Given the description of an element on the screen output the (x, y) to click on. 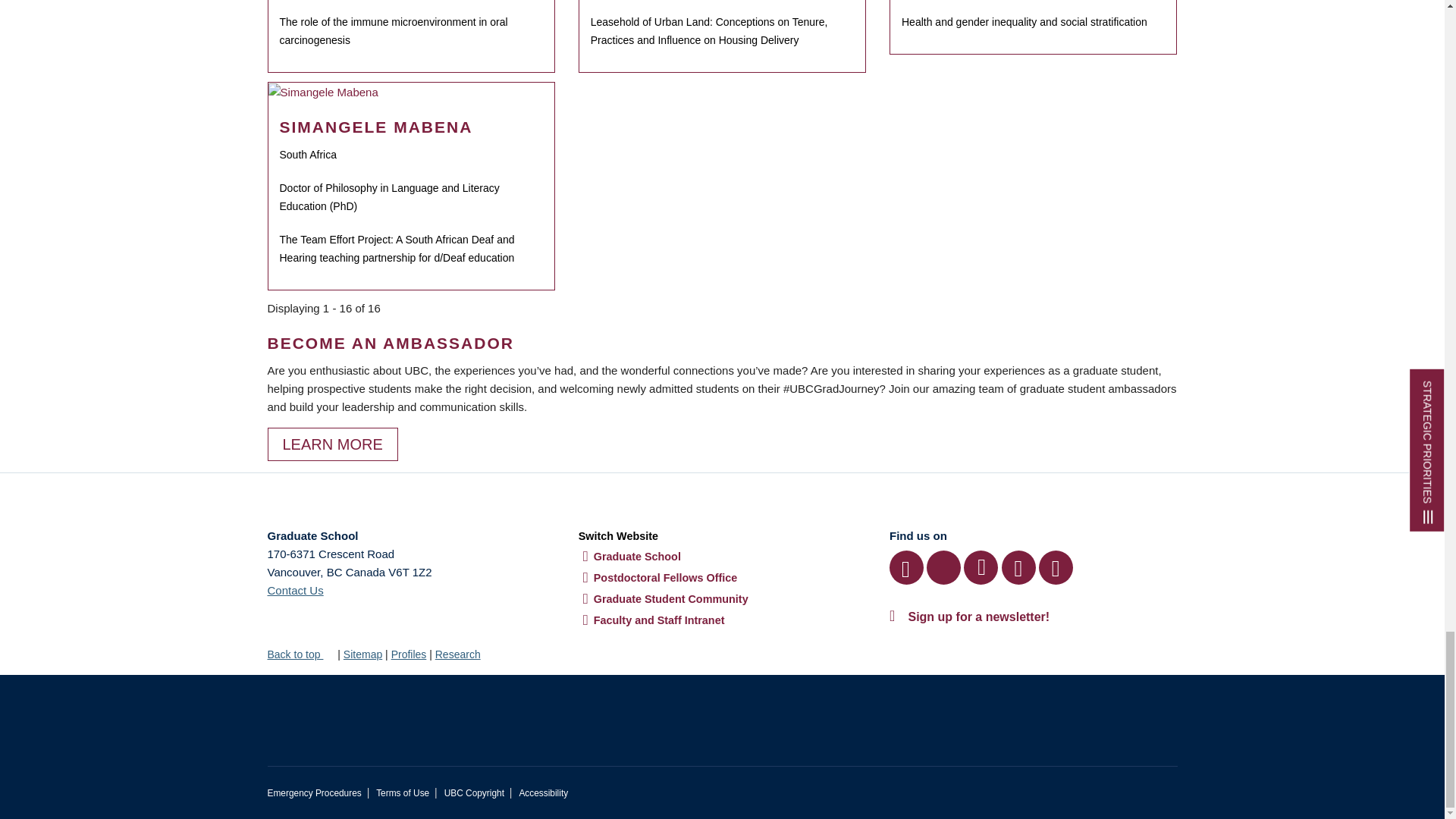
Back to top (300, 654)
